Given the description of an element on the screen output the (x, y) to click on. 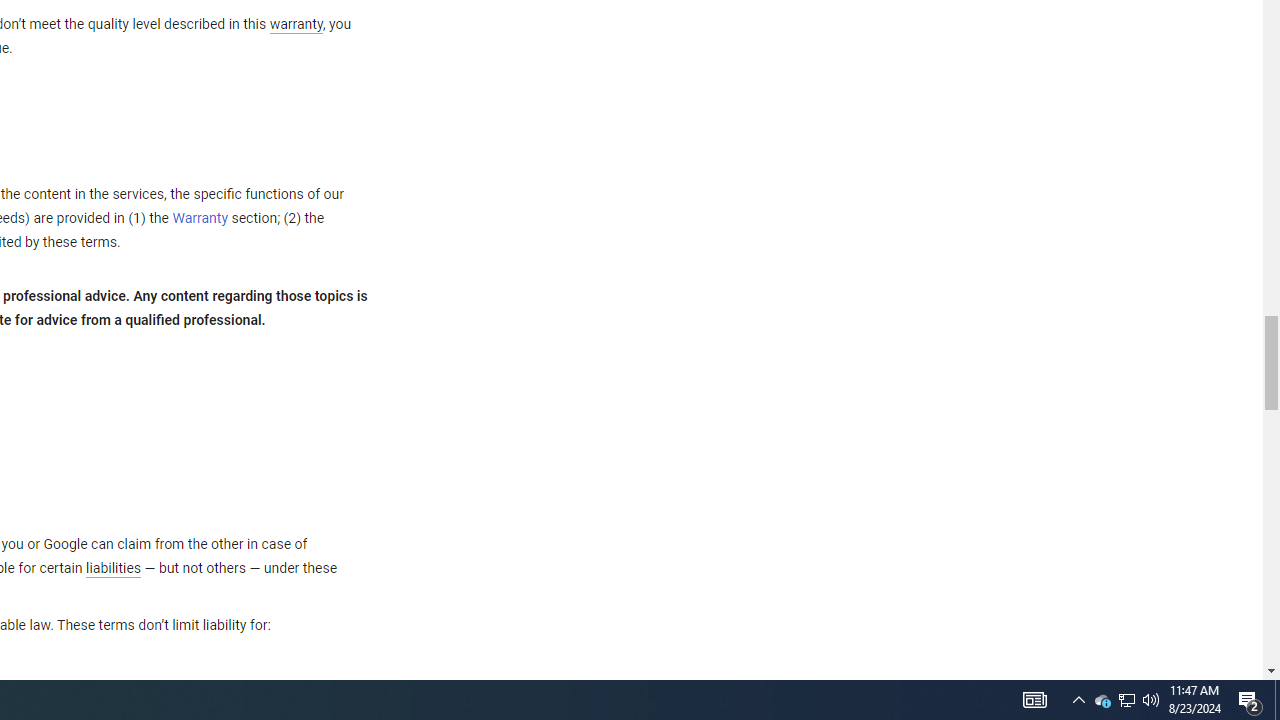
Warranty (200, 219)
warranty (295, 25)
liabilities (113, 568)
